Given the description of an element on the screen output the (x, y) to click on. 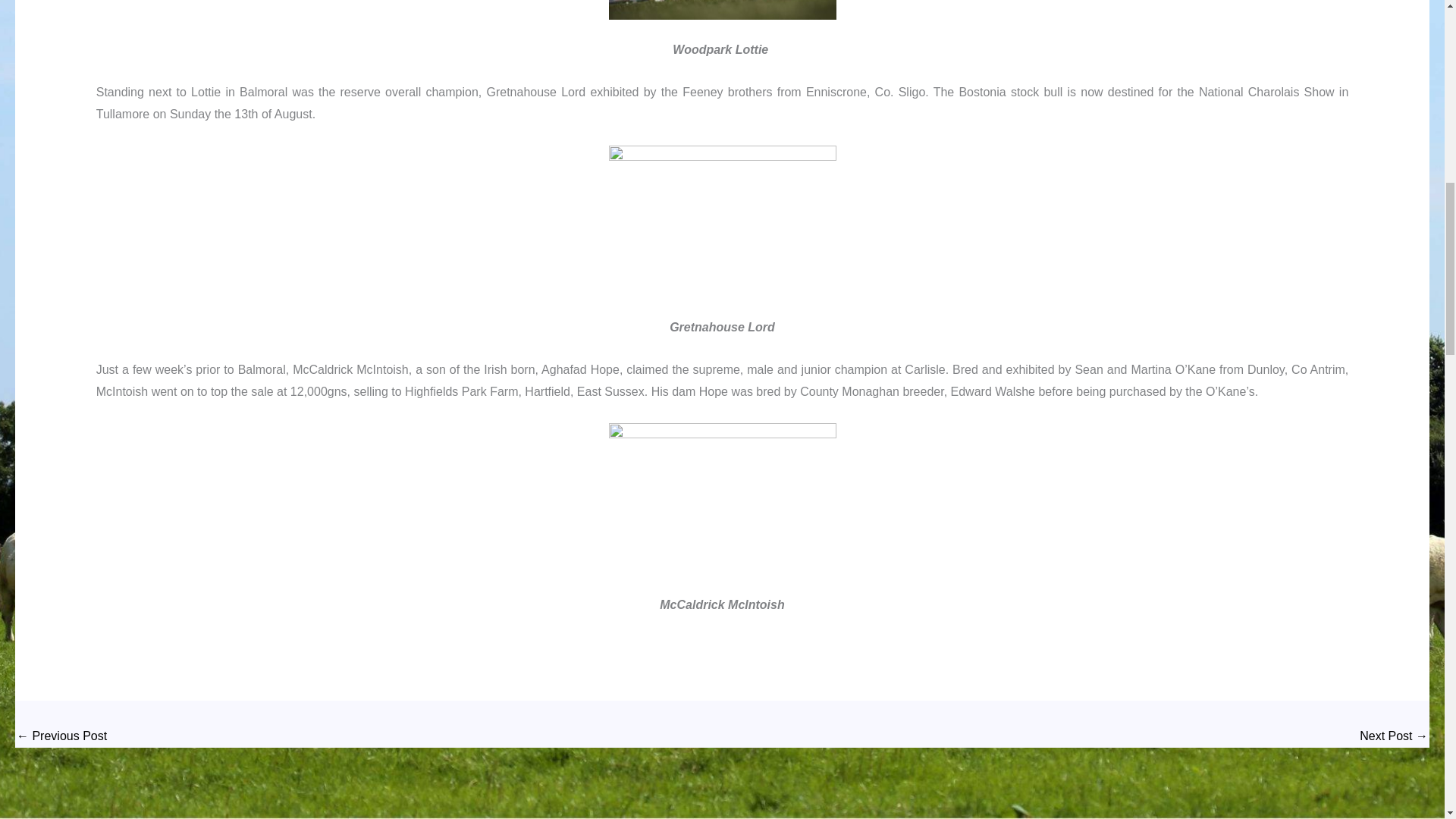
Charolais Photograph Competition (61, 736)
Charolais dominate at Finn Valley (1393, 736)
